Given the description of an element on the screen output the (x, y) to click on. 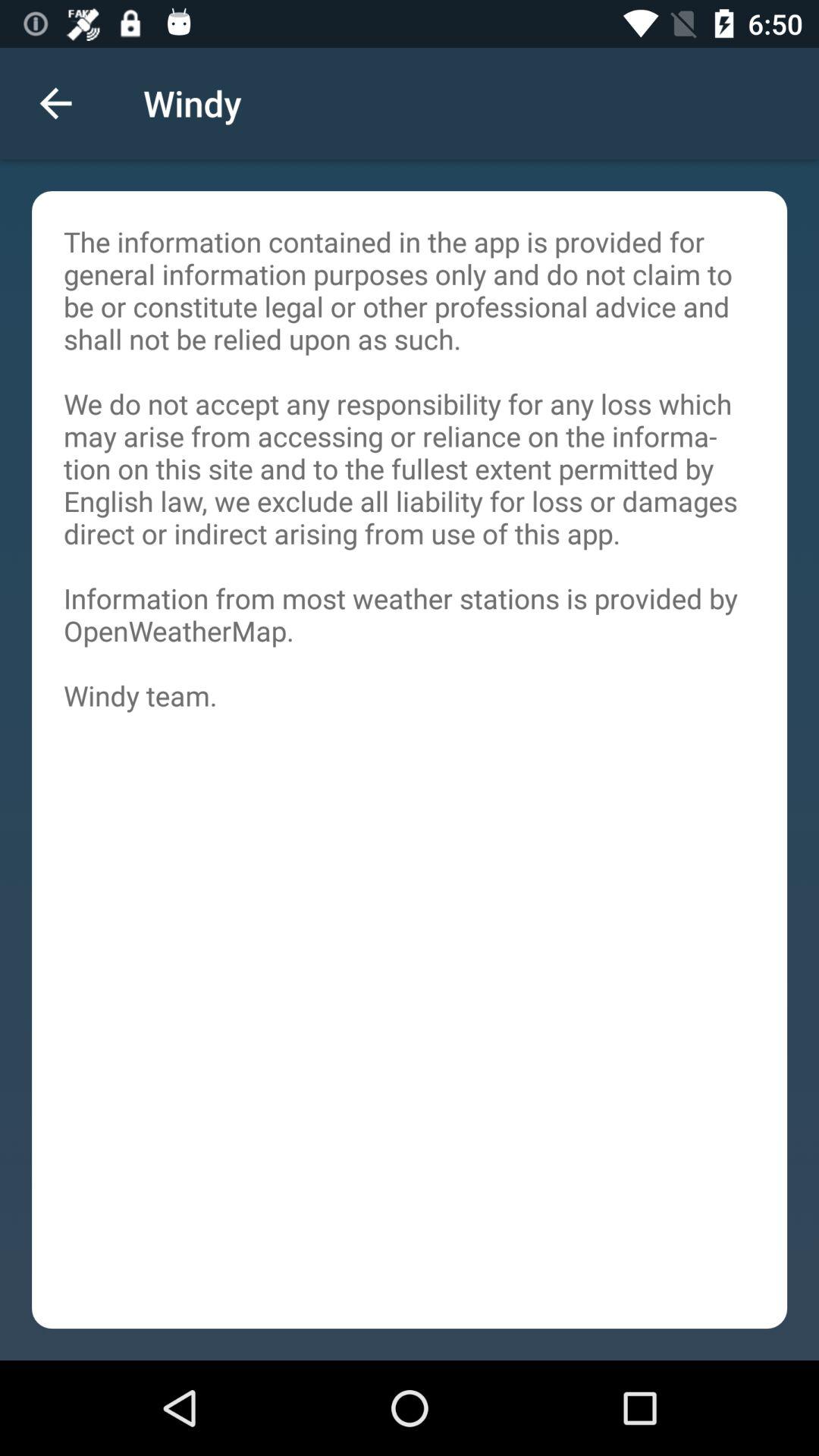
open the icon above the the information contained (55, 103)
